Given the description of an element on the screen output the (x, y) to click on. 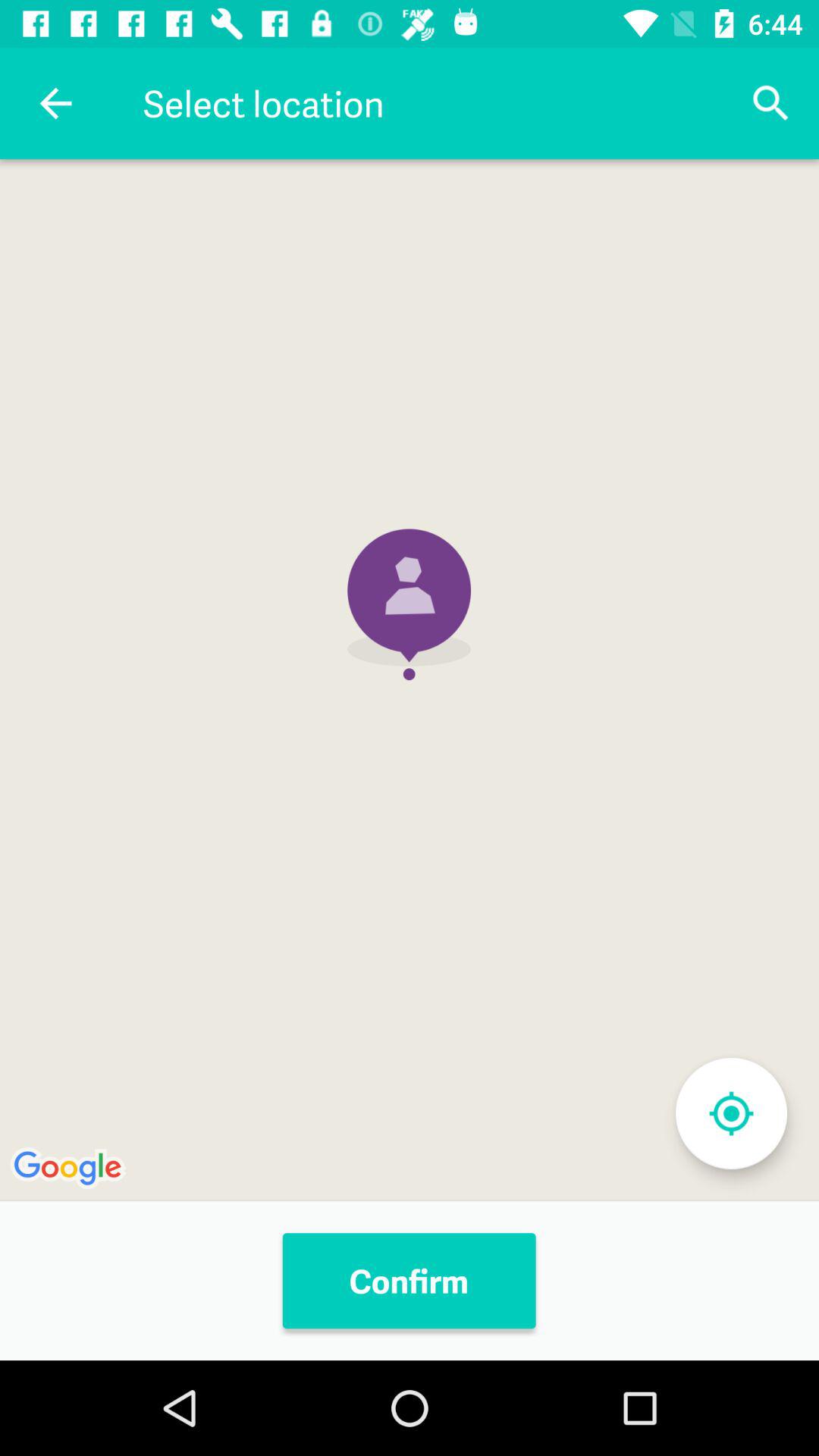
my location (731, 1113)
